Given the description of an element on the screen output the (x, y) to click on. 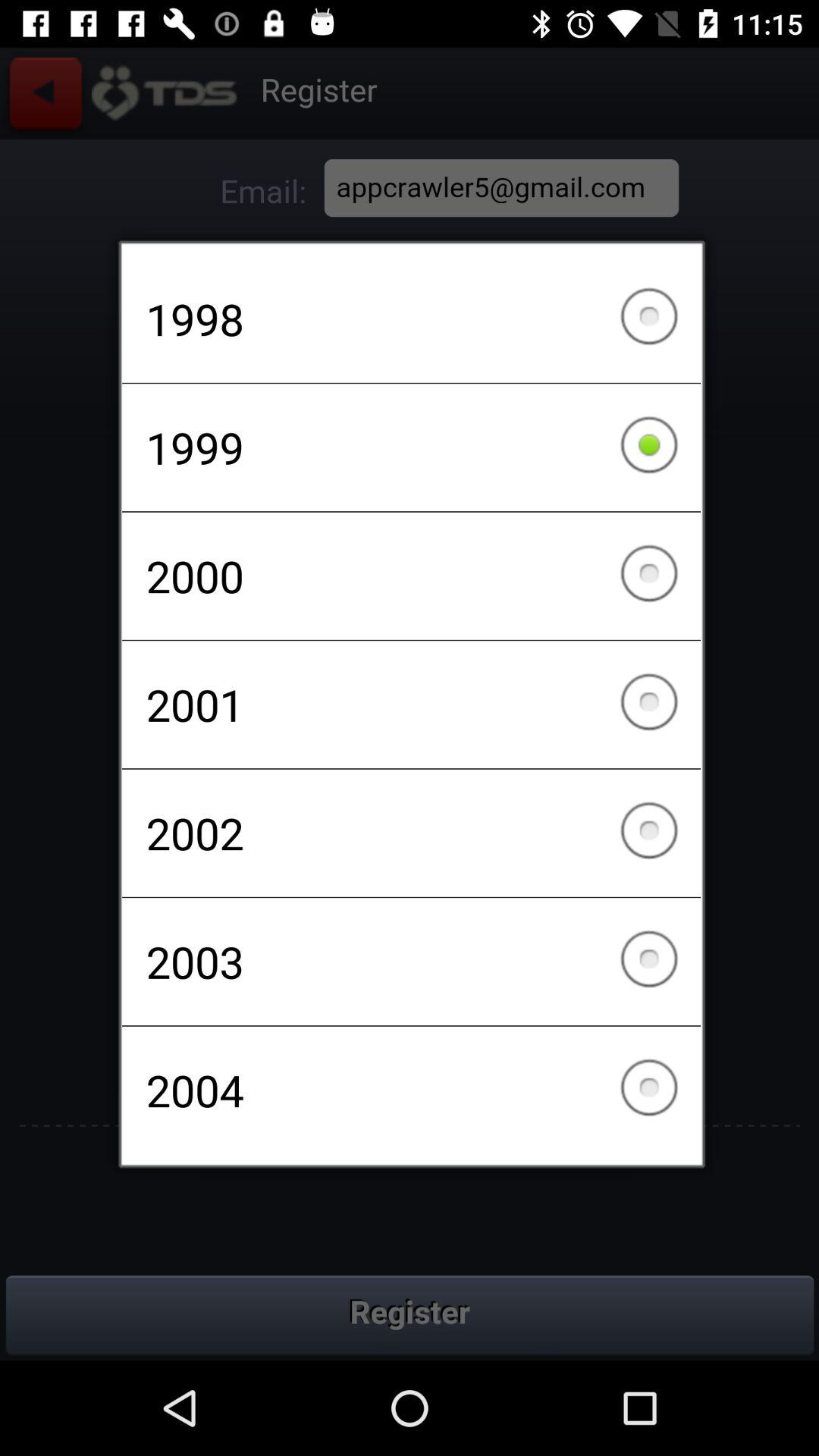
turn off the checkbox above 1999 checkbox (411, 318)
